Given the description of an element on the screen output the (x, y) to click on. 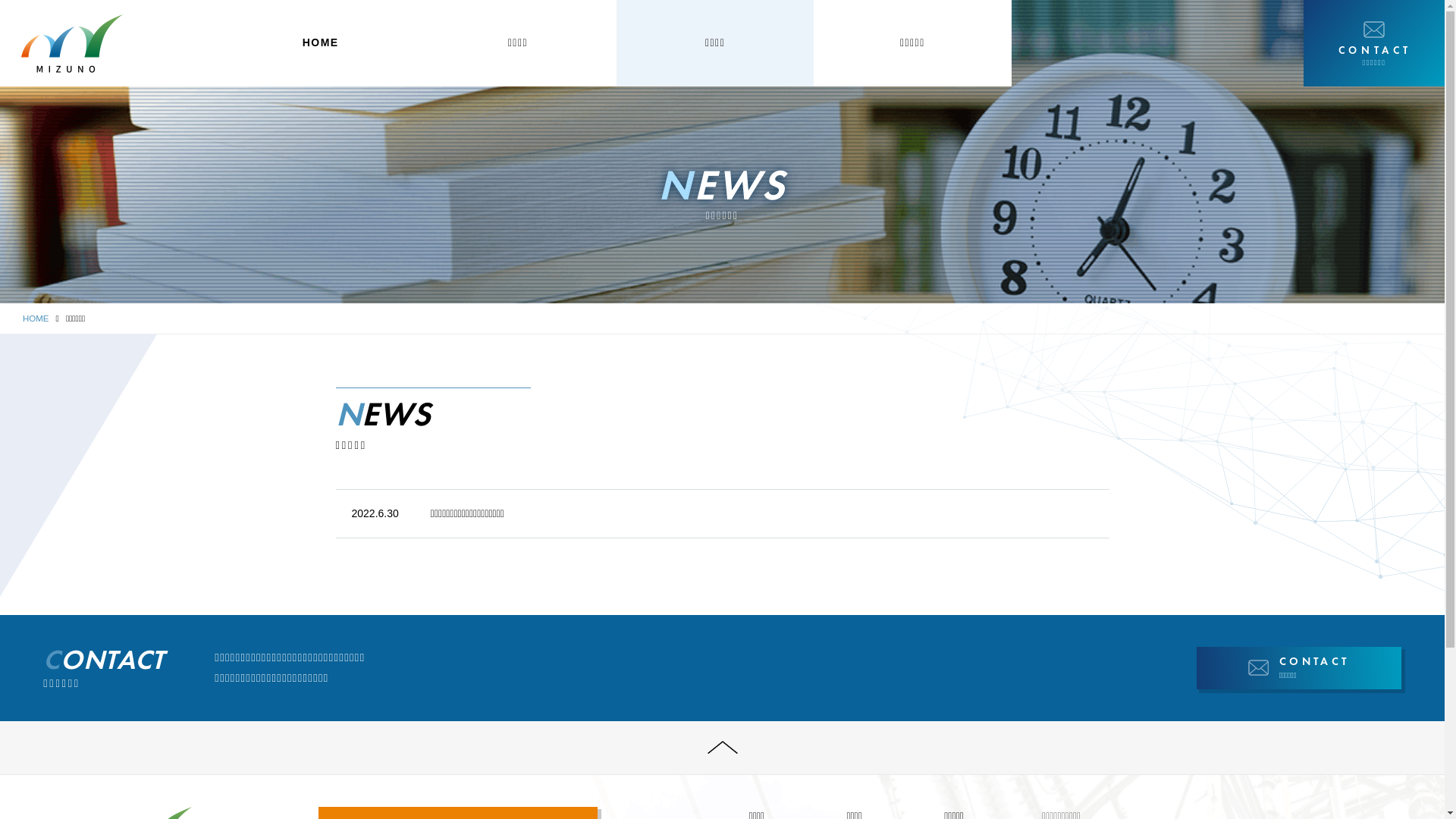
HOME Element type: text (35, 318)
HOME Element type: text (320, 43)
